Given the description of an element on the screen output the (x, y) to click on. 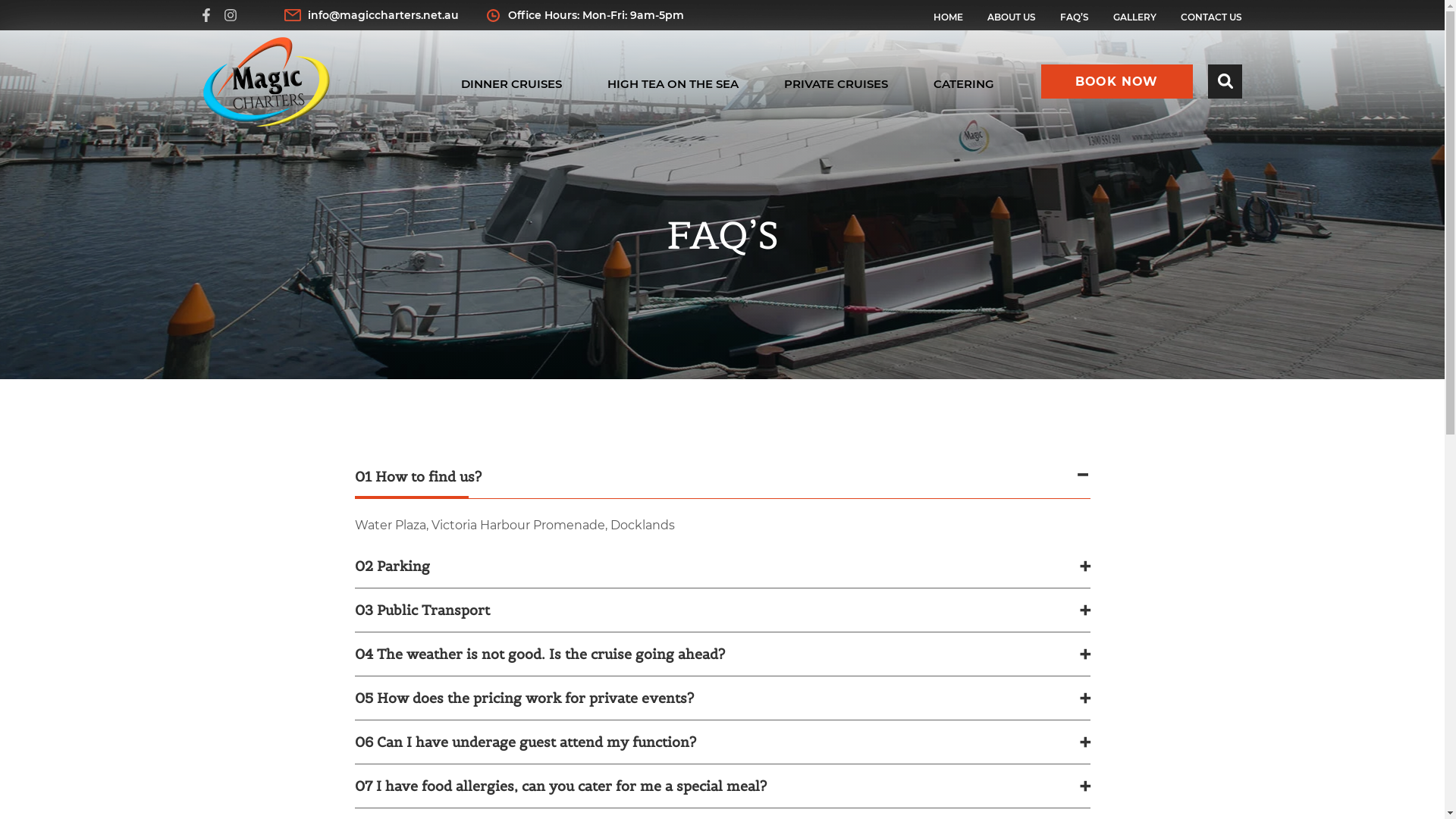
CONTACT US Element type: text (1210, 16)
DINNER CRUISES Element type: text (511, 83)
GALLERY Element type: text (1134, 16)
04 The weather is not good. Is the cruise going ahead? Element type: text (722, 654)
02 Parking Element type: text (722, 566)
HIGH TEA ON THE SEA Element type: text (671, 83)
01 How to find us? Element type: text (722, 476)
PRIVATE CRUISES Element type: text (836, 83)
HOME Element type: text (947, 16)
ABOUT US Element type: text (1011, 16)
BOOK NOW Element type: text (1116, 81)
info@magiccharters.net.au Element type: text (370, 14)
Instagram Element type: hover (229, 17)
05 How does the pricing work for private events? Element type: text (722, 698)
Facebook Element type: hover (205, 17)
Magic Charters Melbourne Element type: hover (266, 82)
06 Can I have underage guest attend my function? Element type: text (722, 742)
CATERING Element type: text (962, 83)
03 Public Transport Element type: text (722, 610)
